Given the description of an element on the screen output the (x, y) to click on. 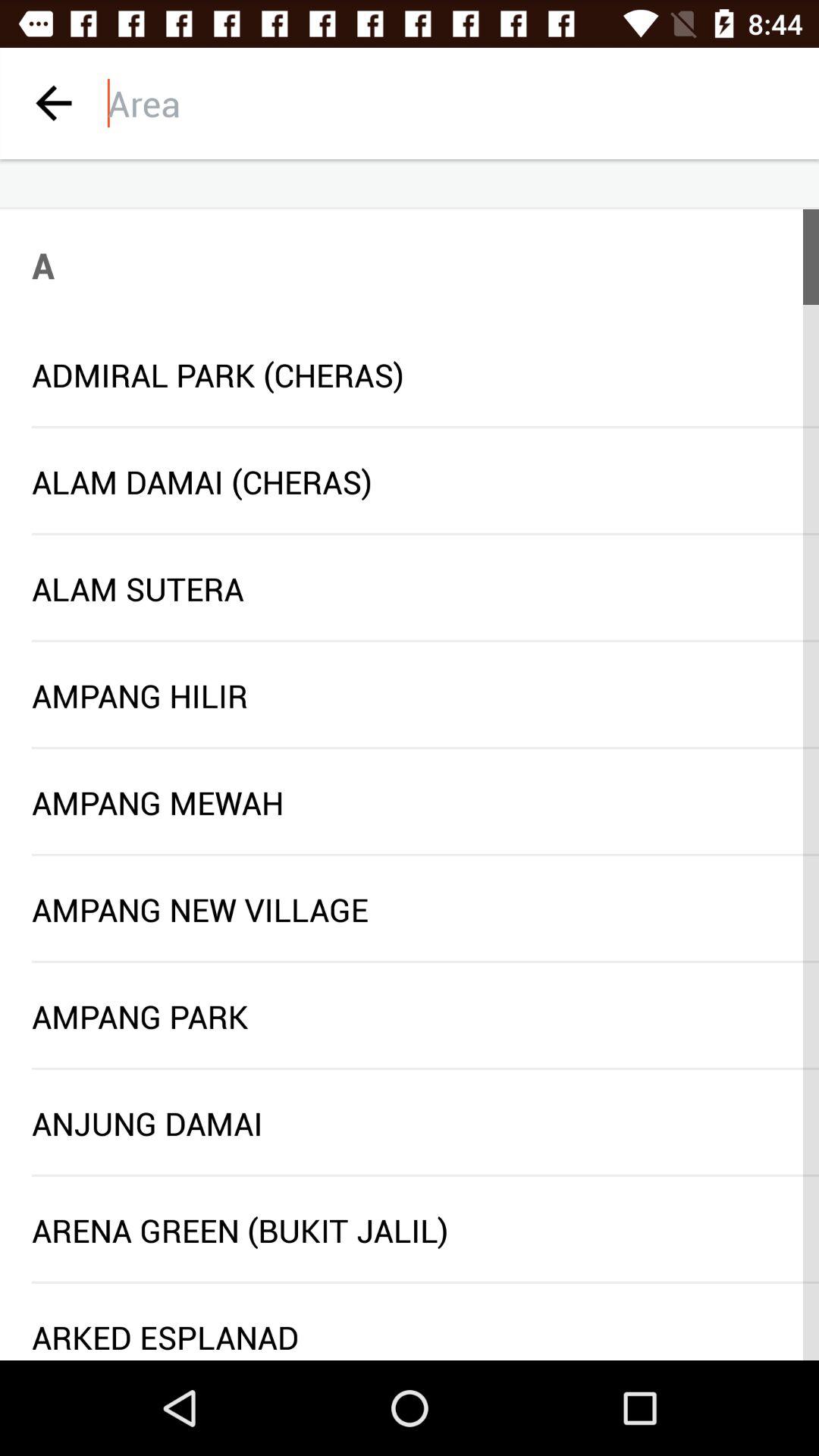
choose the icon below ampang new village icon (425, 961)
